Given the description of an element on the screen output the (x, y) to click on. 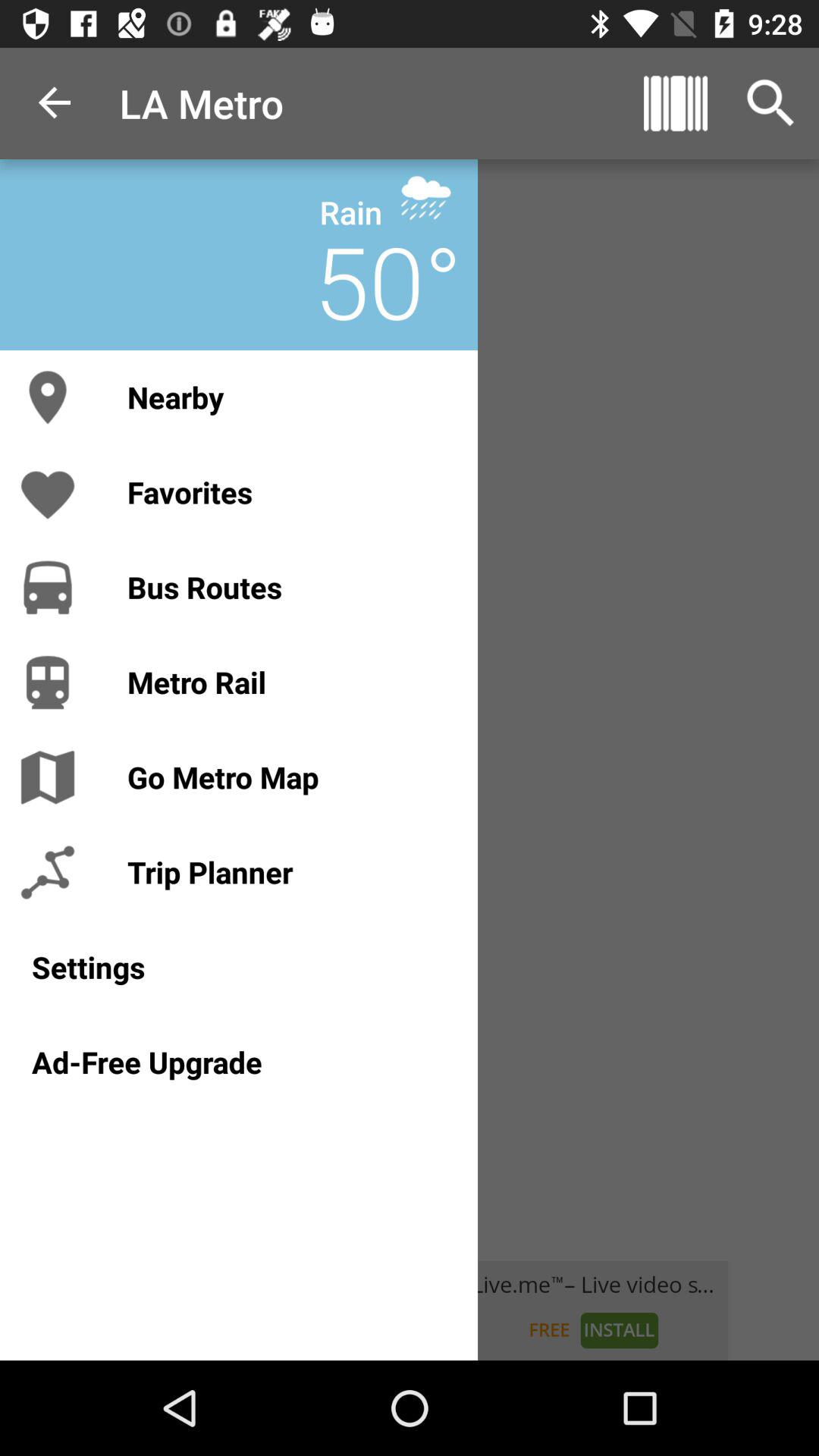
tap to install (409, 1310)
